Given the description of an element on the screen output the (x, y) to click on. 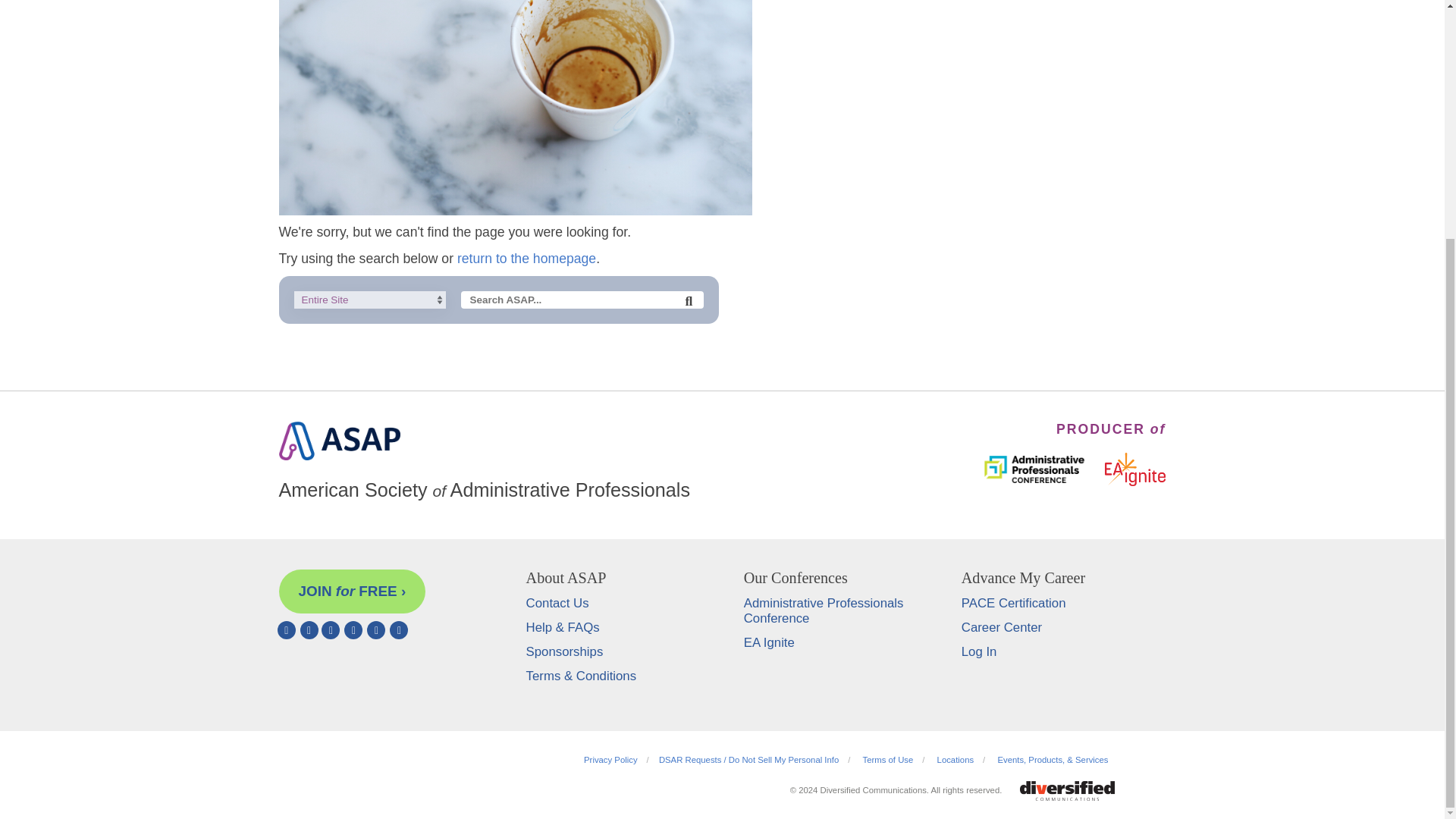
Locations (955, 759)
ASAP Home (339, 455)
Terms of Use (888, 759)
APC (1034, 467)
Join ASAP (352, 591)
Privacy Policy (610, 759)
EA Ignite (1135, 467)
